Given the description of an element on the screen output the (x, y) to click on. 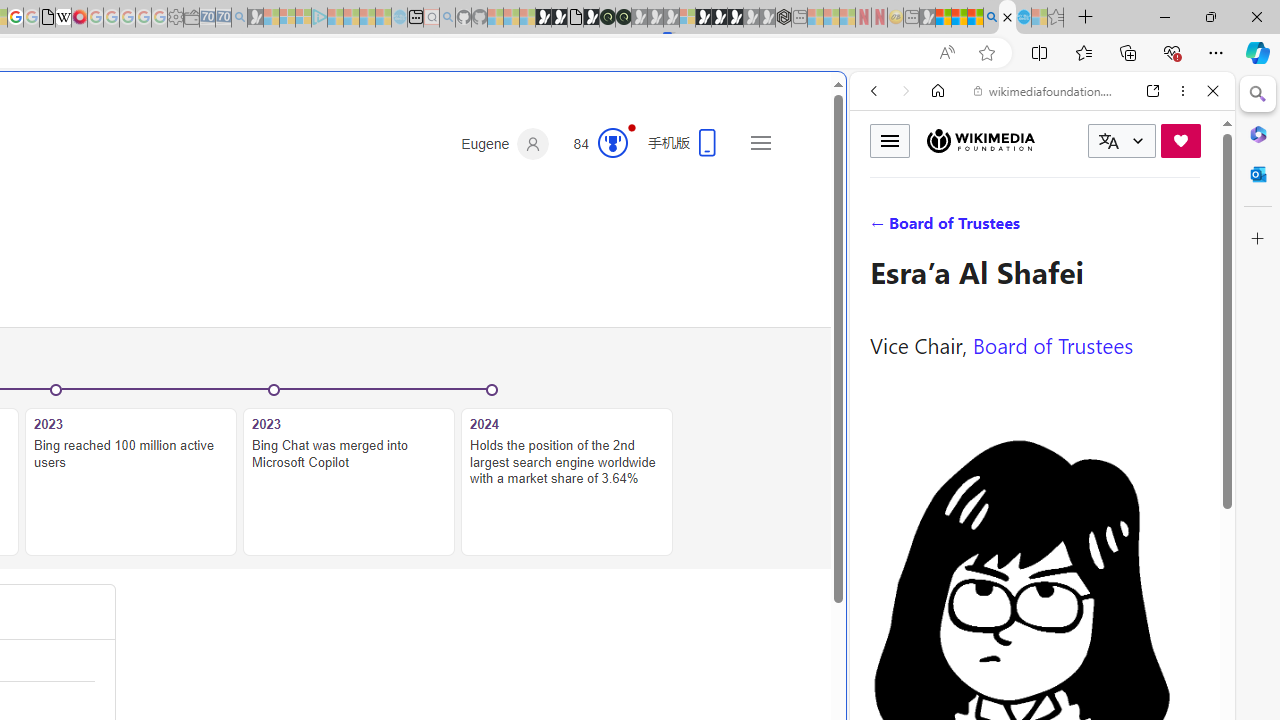
Toggle menu (890, 140)
Wiktionary (1034, 669)
Search Filter, Search Tools (1093, 228)
Sign in to your account - Sleeping (687, 17)
SEARCH TOOLS (1093, 228)
Search or enter web address (343, 191)
